Given the description of an element on the screen output the (x, y) to click on. 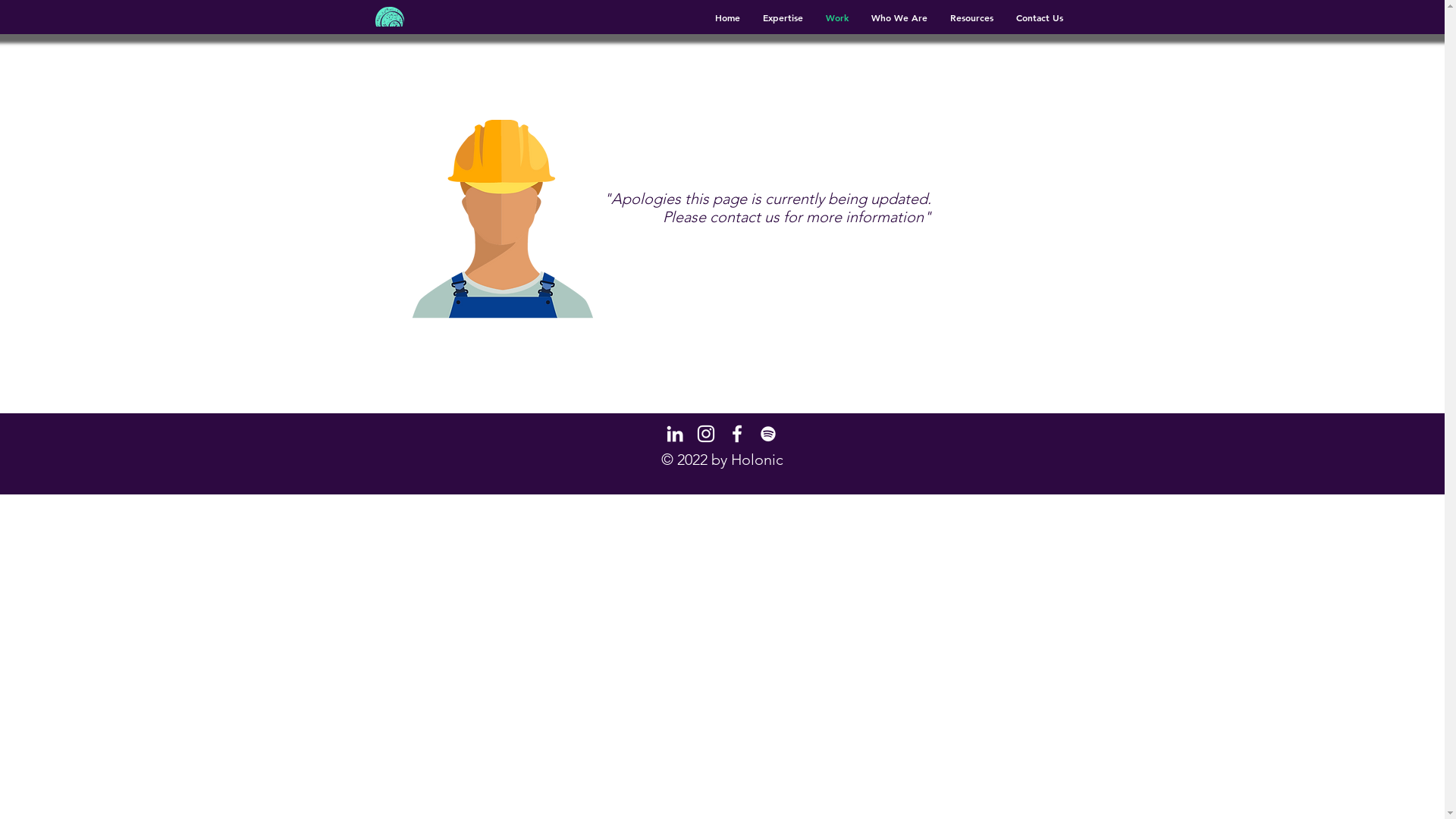
Expertise Element type: text (781, 17)
Who We Are Element type: text (898, 17)
Work Element type: text (836, 17)
Home Element type: text (727, 17)
Contact Us Element type: text (1038, 17)
Resources Element type: text (971, 17)
